Given the description of an element on the screen output the (x, y) to click on. 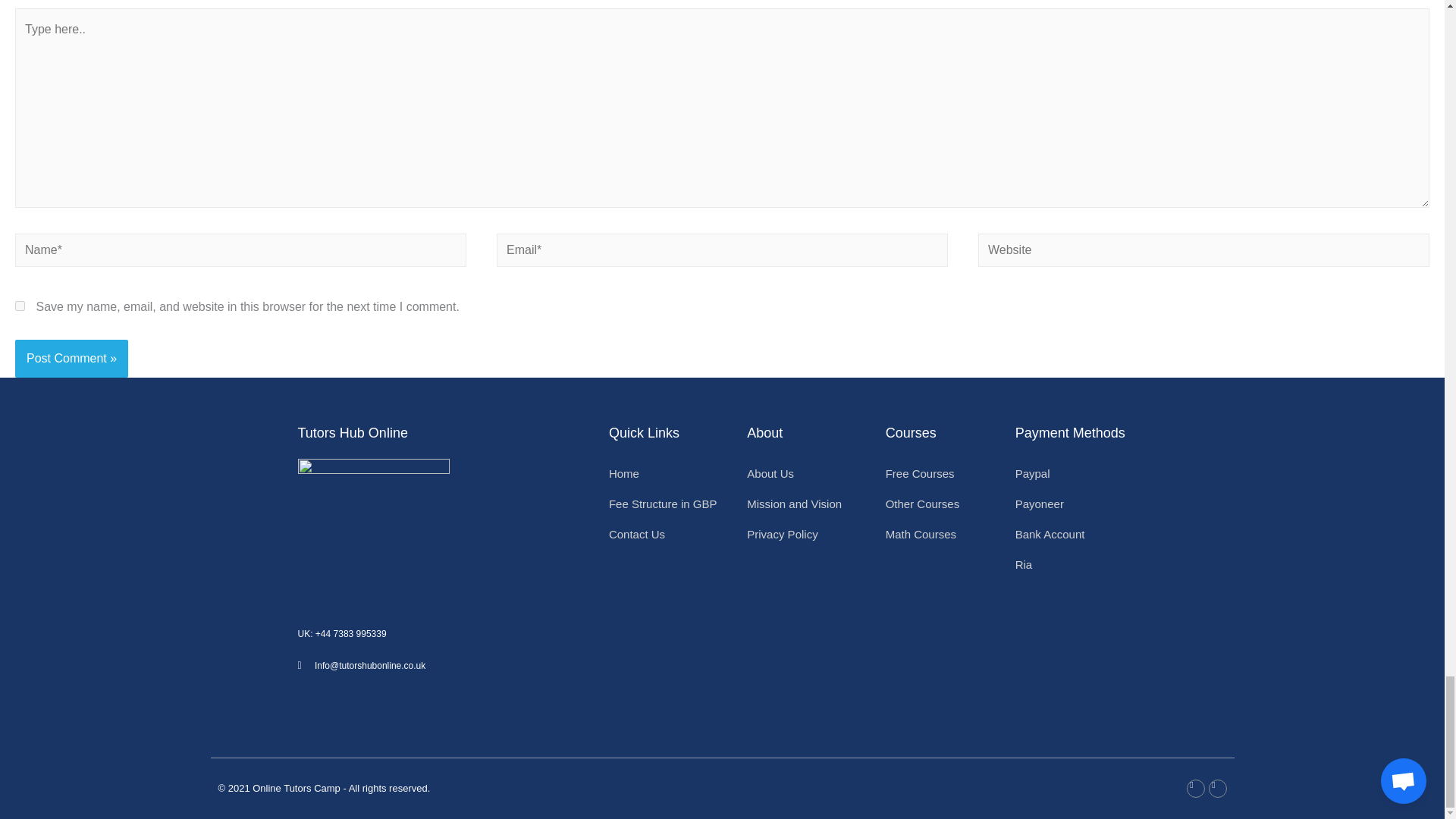
yes (19, 306)
